Given the description of an element on the screen output the (x, y) to click on. 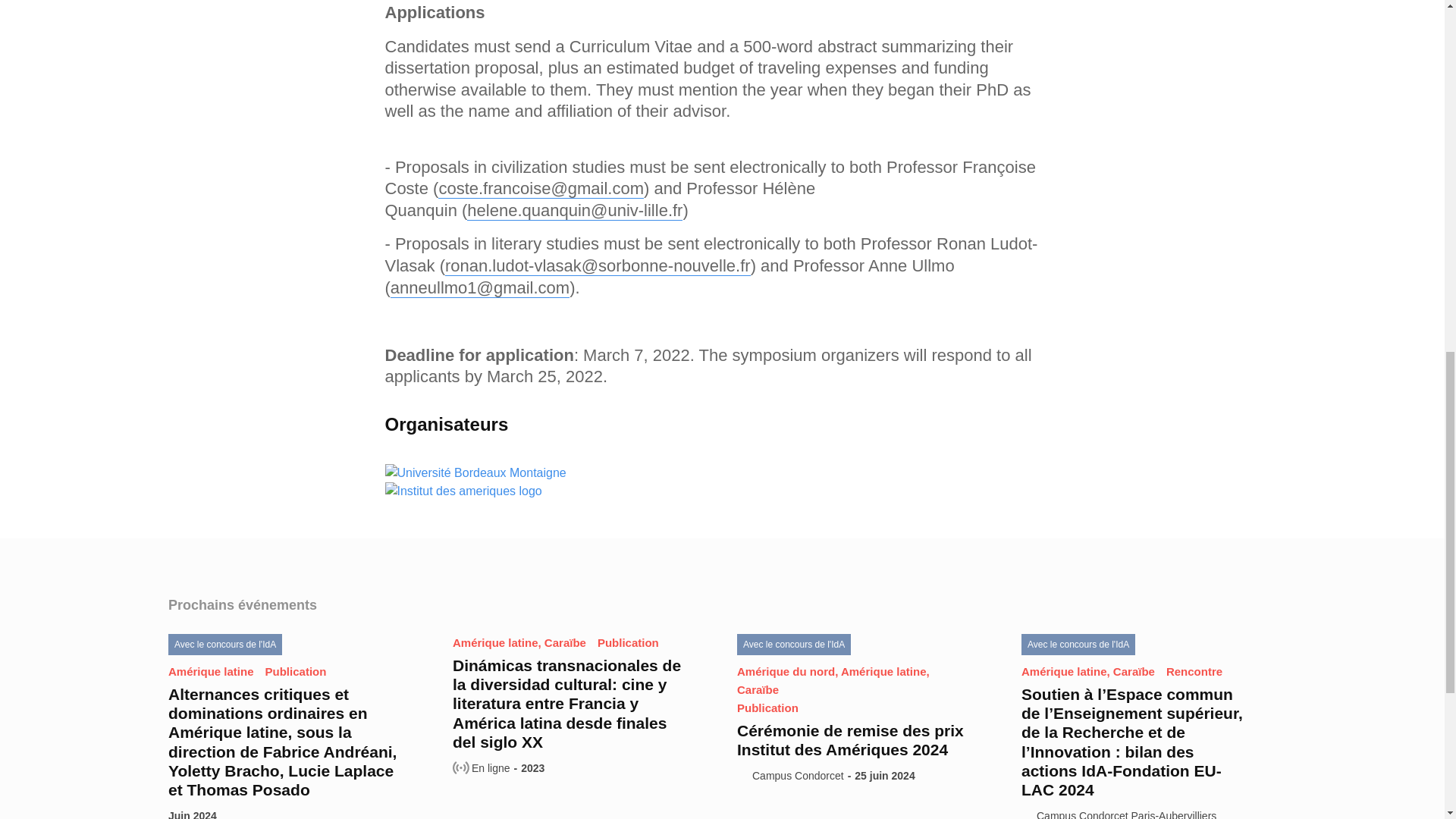
Institut des ameriques logo (463, 491)
